Given the description of an element on the screen output the (x, y) to click on. 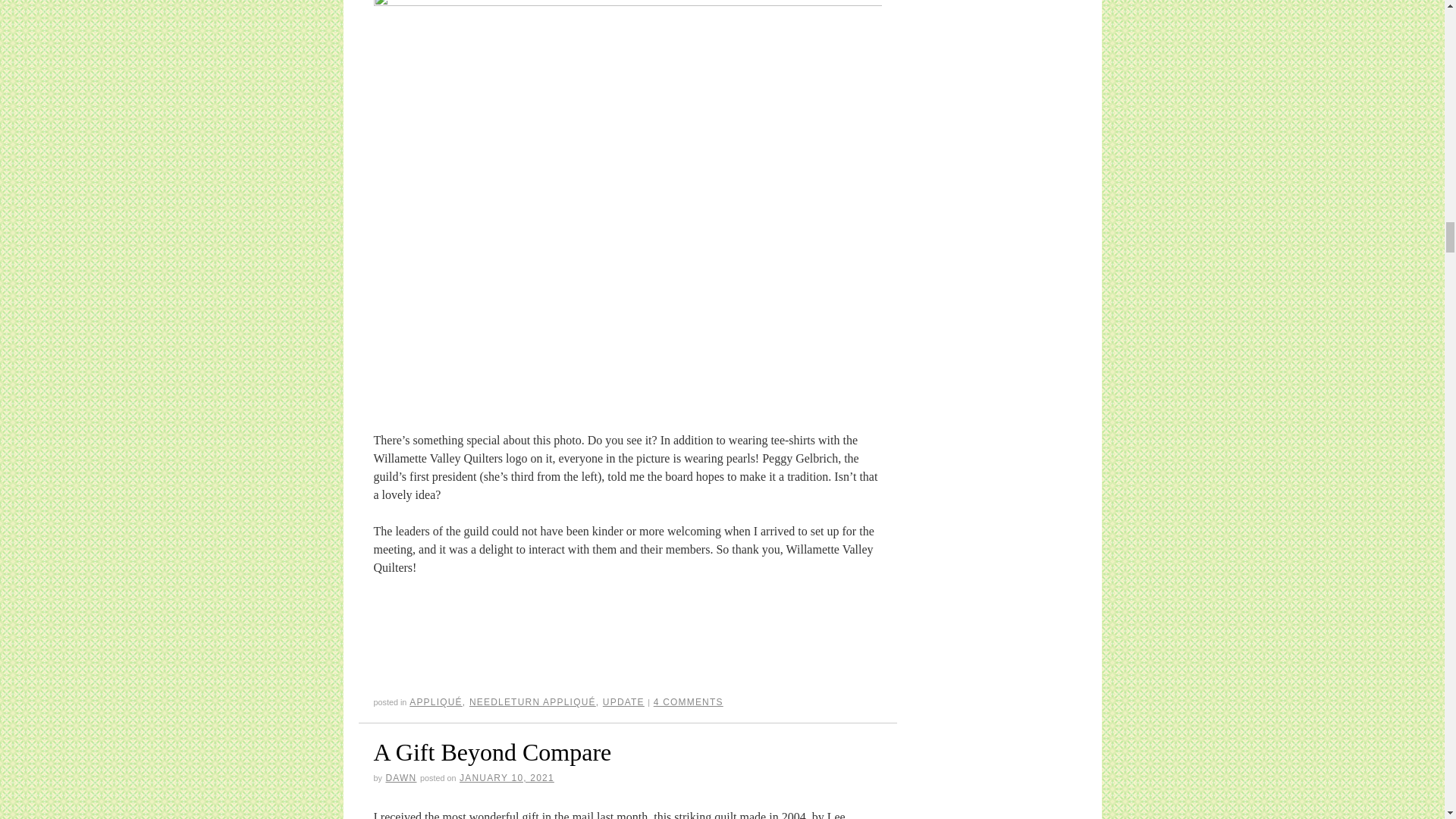
2:57 pm (507, 777)
Permalink to A Gift Beyond Compare (491, 751)
View all posts by Dawn (400, 777)
